Given the description of an element on the screen output the (x, y) to click on. 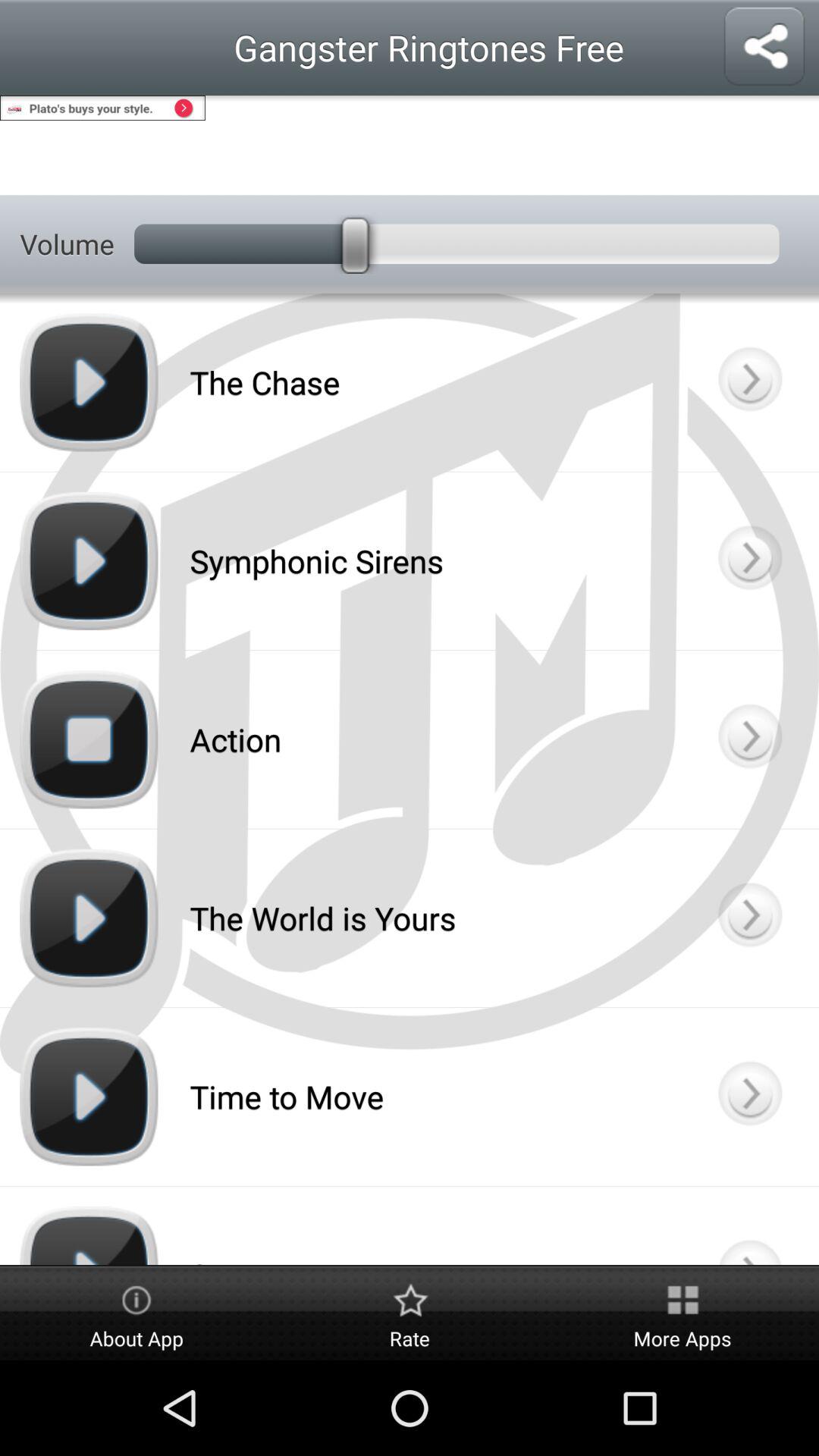
know the details (749, 561)
